Given the description of an element on the screen output the (x, y) to click on. 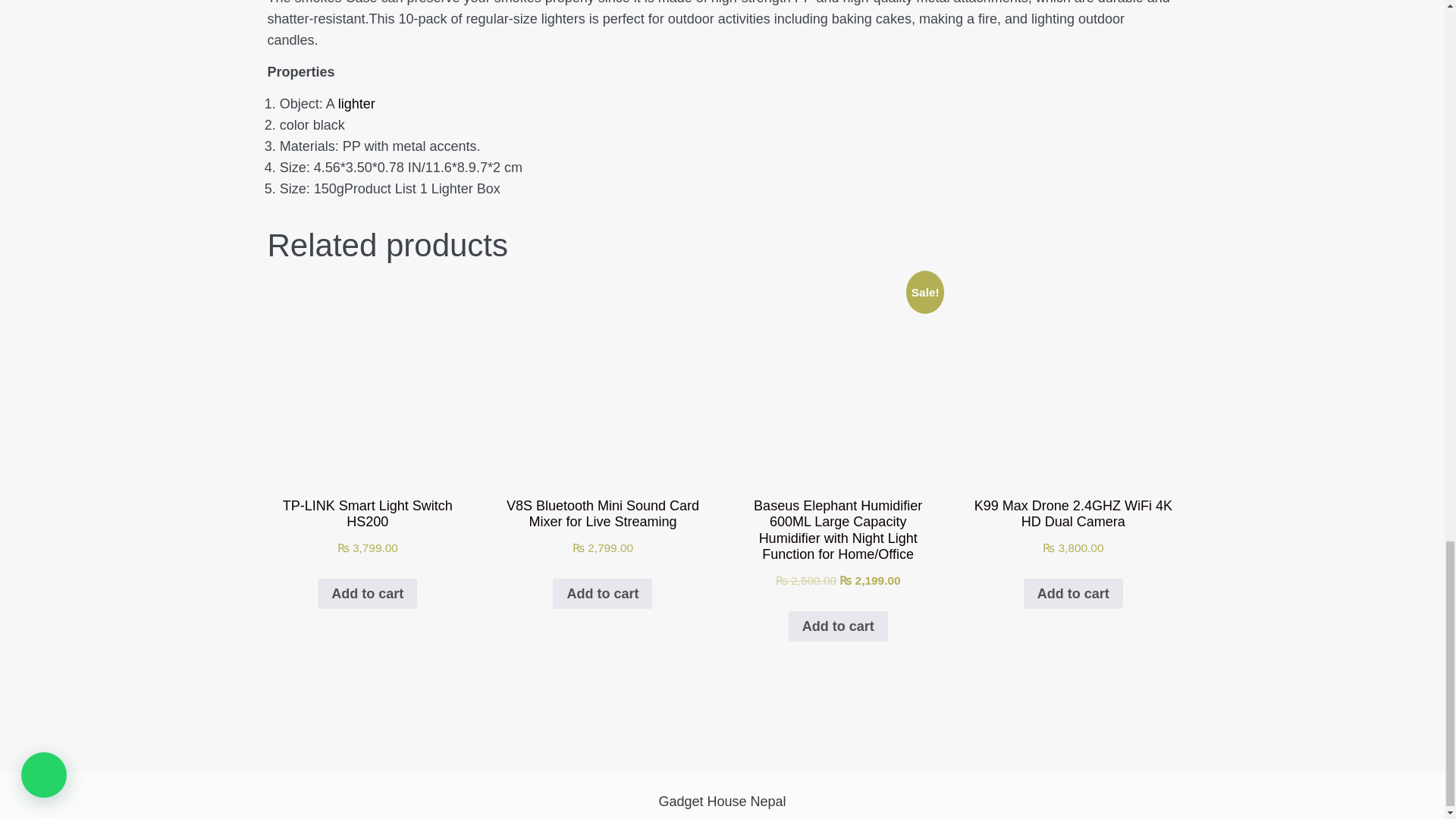
Add to cart (602, 593)
Add to cart (366, 593)
lighter (356, 103)
